Given the description of an element on the screen output the (x, y) to click on. 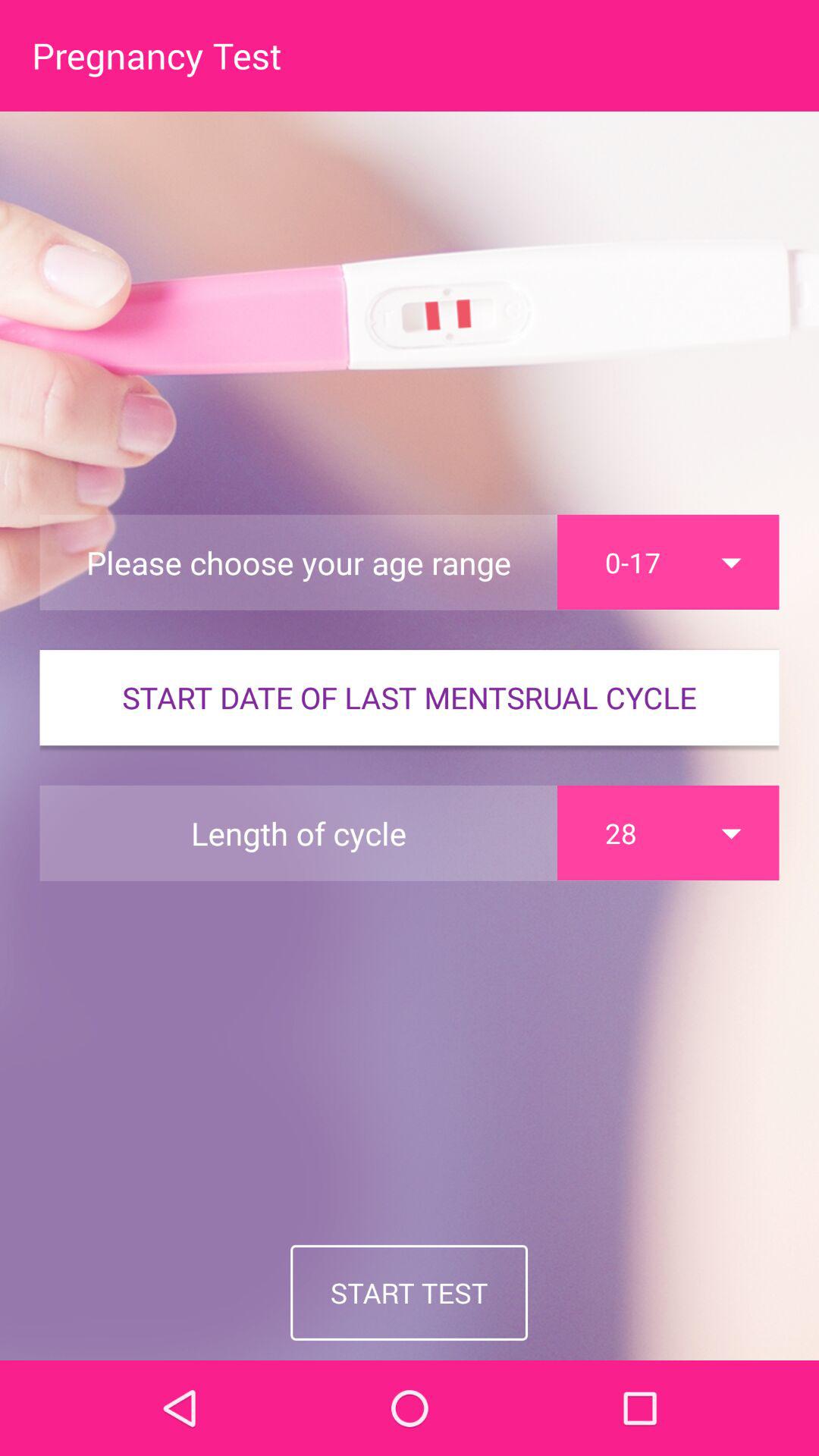
click the 0-17 item (668, 562)
